Given the description of an element on the screen output the (x, y) to click on. 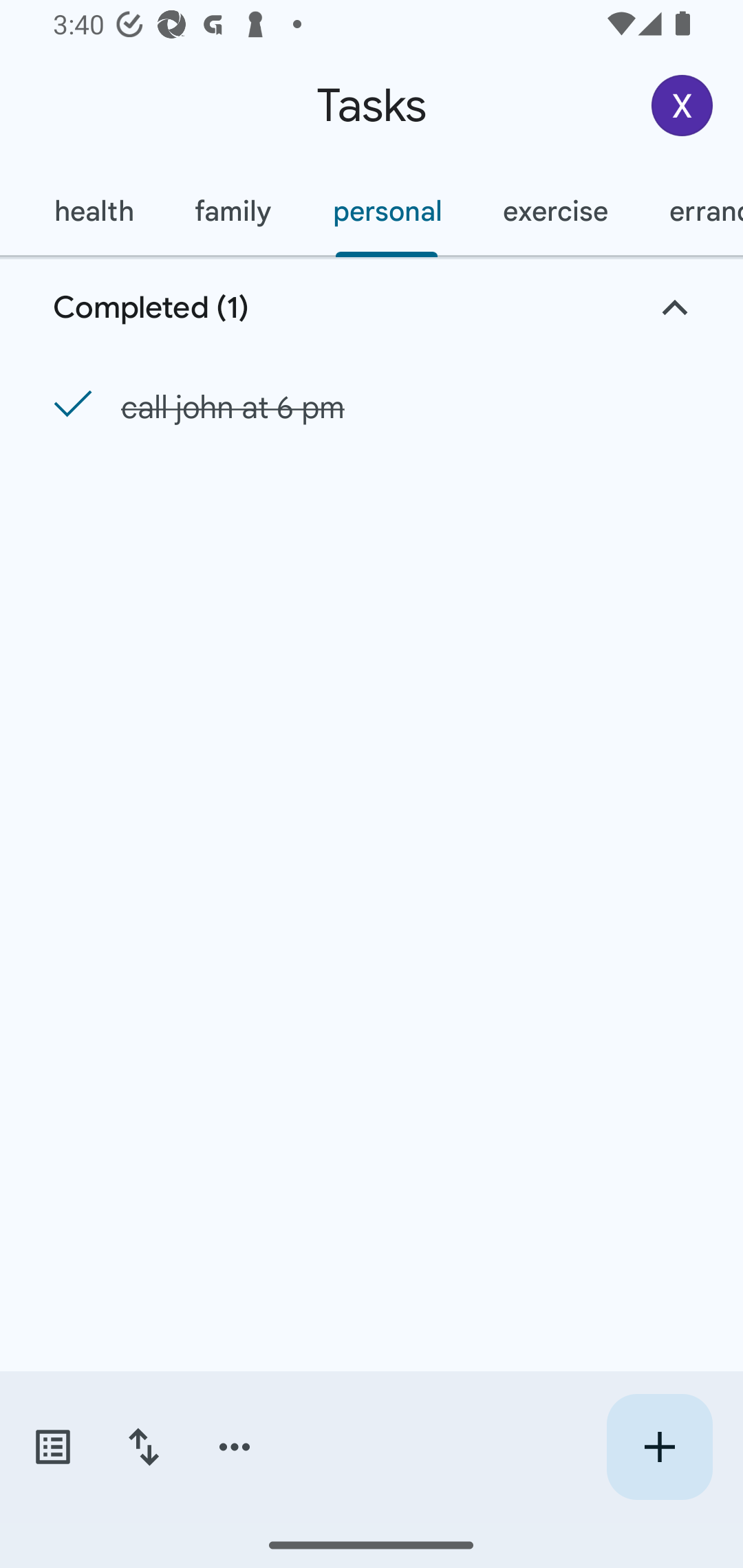
health (93, 211)
family (232, 211)
exercise (554, 211)
errands (690, 211)
Completed (1) (371, 307)
Mark as not complete (67, 405)
Switch task lists (52, 1447)
Create new task (659, 1446)
Change sort order (143, 1446)
More options (234, 1446)
